Given the description of an element on the screen output the (x, y) to click on. 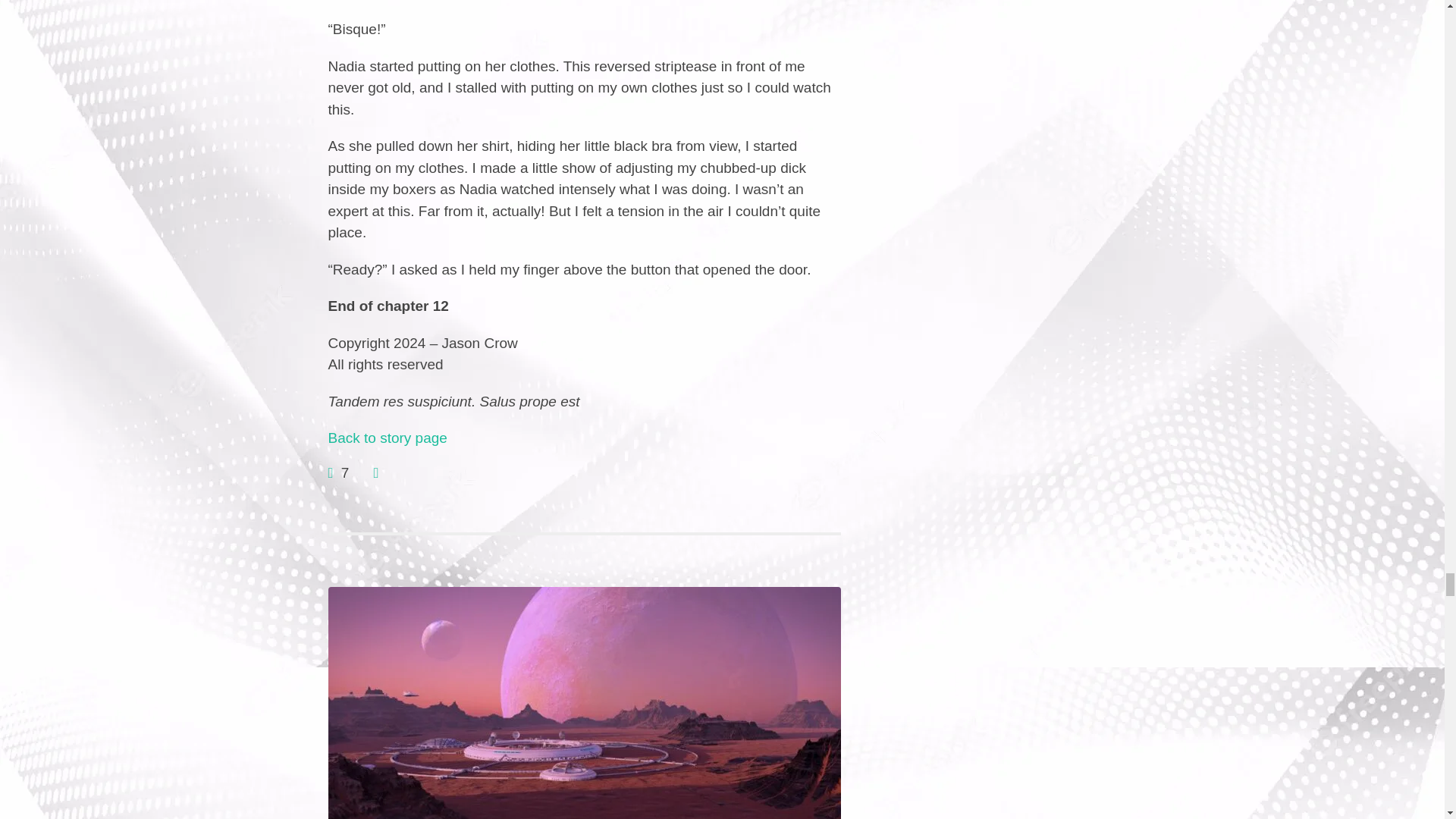
Aetheria (386, 437)
